Given the description of an element on the screen output the (x, y) to click on. 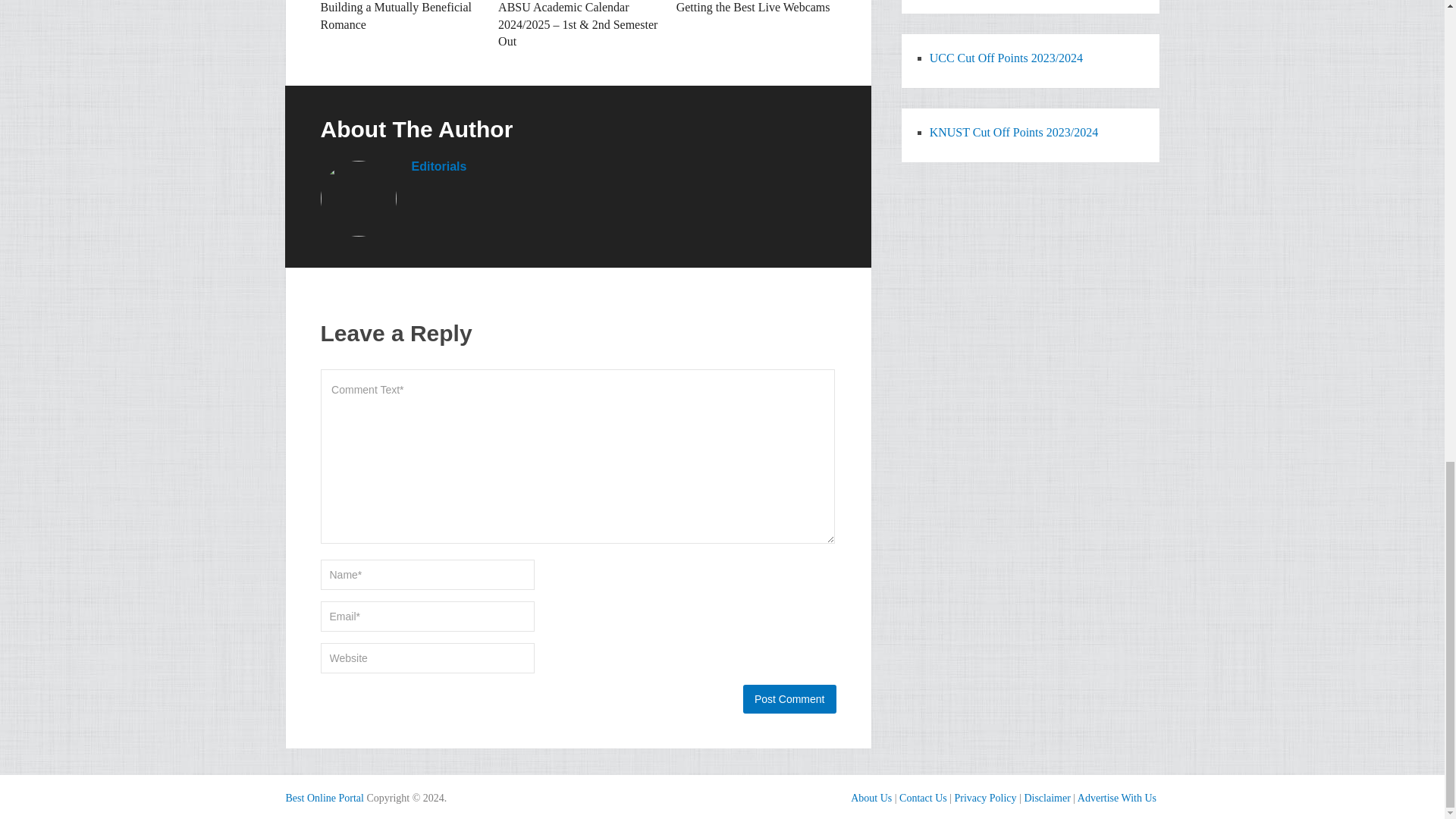
Building a Mutually Beneficial Romance (395, 15)
Post Comment (788, 698)
Building a Mutually Beneficial Romance (395, 15)
Getting the Best Live Webcams (753, 6)
Getting the Best Live Webcams (753, 6)
 Admissions in Ghana (323, 797)
Post Comment (788, 698)
Editorials (437, 165)
